Given the description of an element on the screen output the (x, y) to click on. 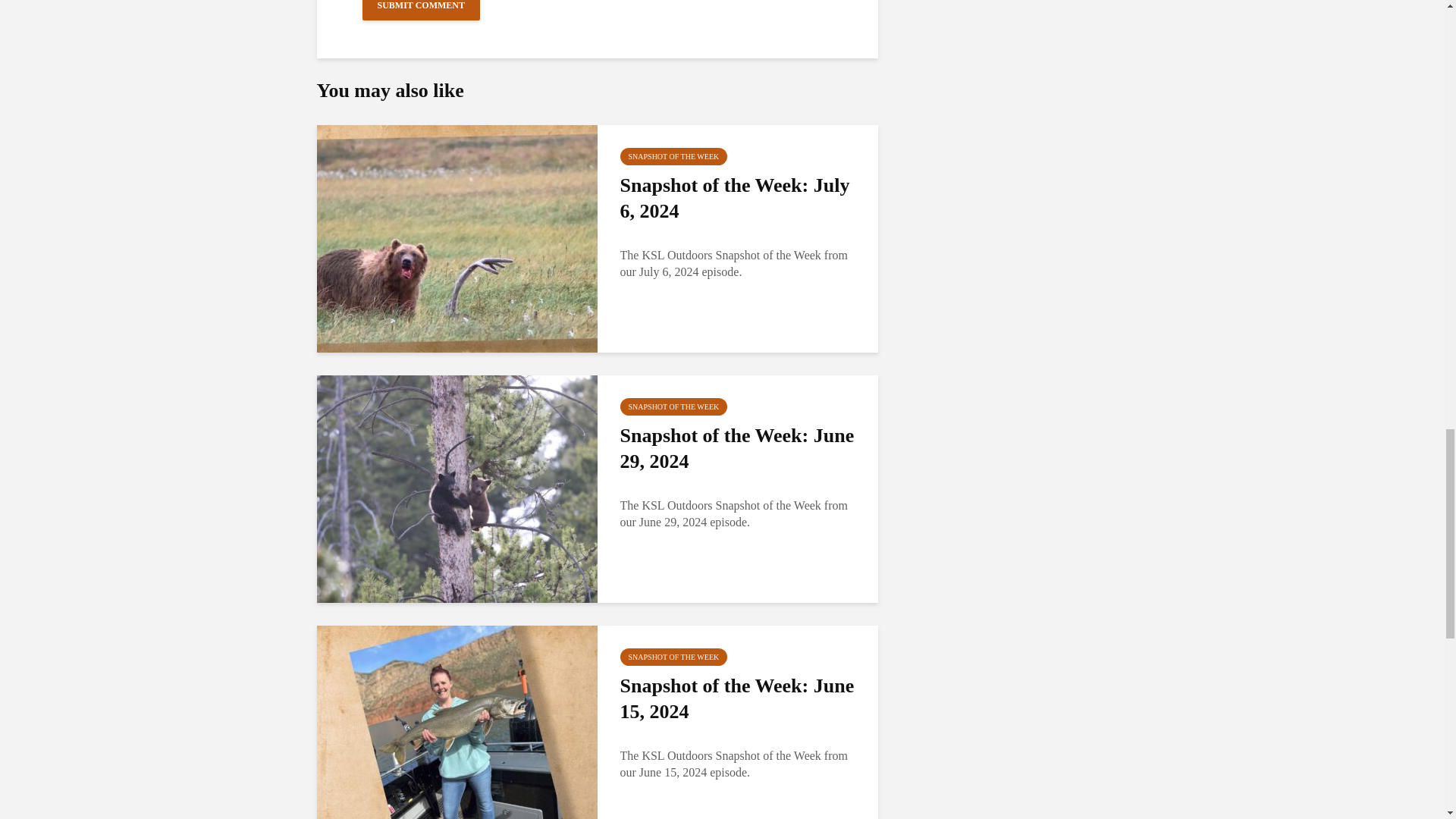
Snapshot of the Week: June 29, 2024 (456, 487)
Snapshot of the Week: June 15, 2024 (456, 738)
SNAPSHOT OF THE WEEK (674, 406)
Snapshot of the Week: July 6, 2024 (740, 198)
SNAPSHOT OF THE WEEK (674, 656)
Submit Comment (421, 10)
Snapshot of the Week: July 6, 2024 (456, 237)
Submit Comment (421, 10)
Snapshot of the Week: June 29, 2024 (740, 449)
SNAPSHOT OF THE WEEK (674, 156)
